Given the description of an element on the screen output the (x, y) to click on. 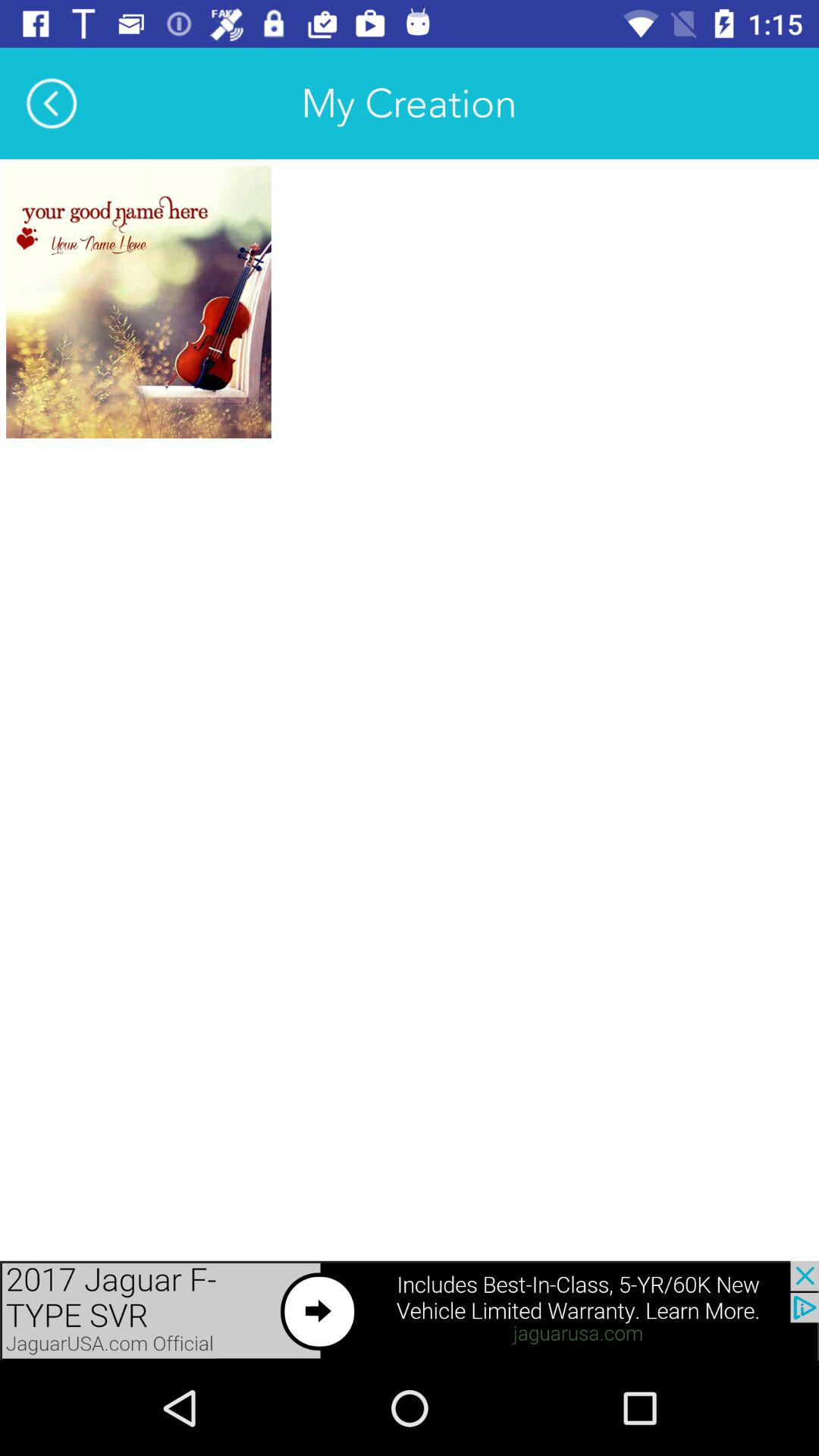
clickable advertisement (409, 1310)
